Given the description of an element on the screen output the (x, y) to click on. 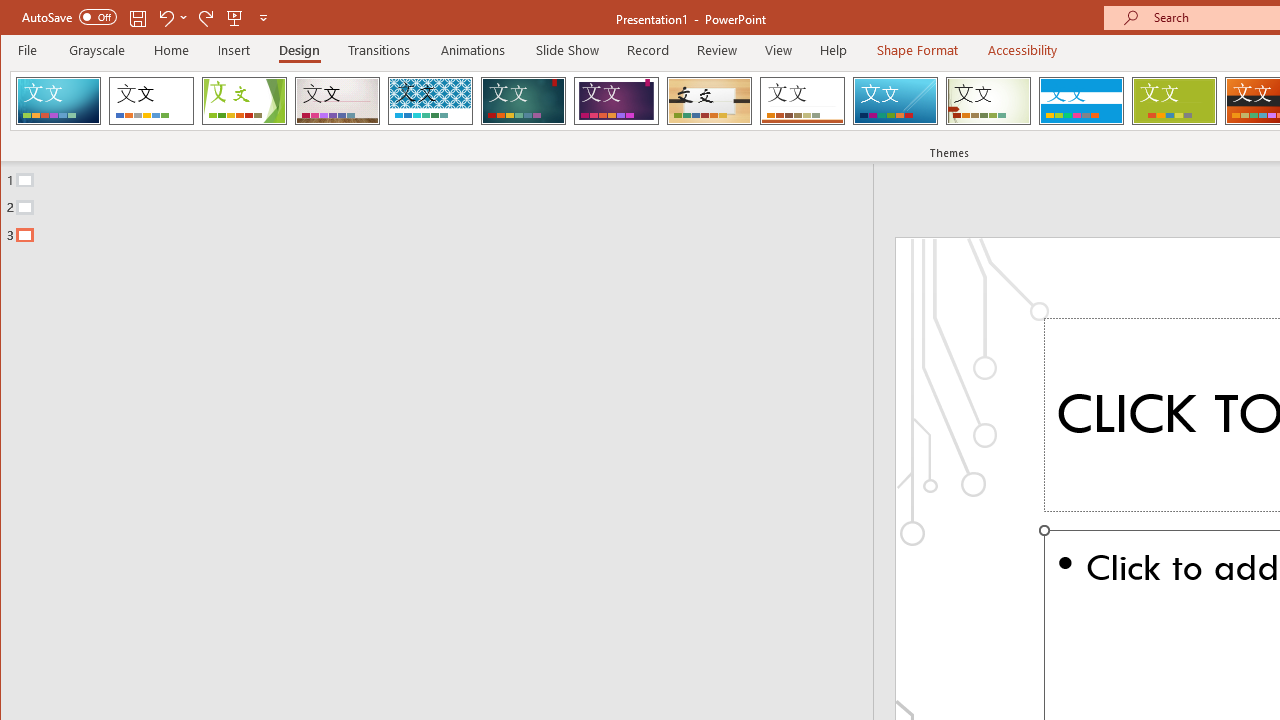
Wisp (988, 100)
Banded (1081, 100)
Ion Boardroom (616, 100)
